Given the description of an element on the screen output the (x, y) to click on. 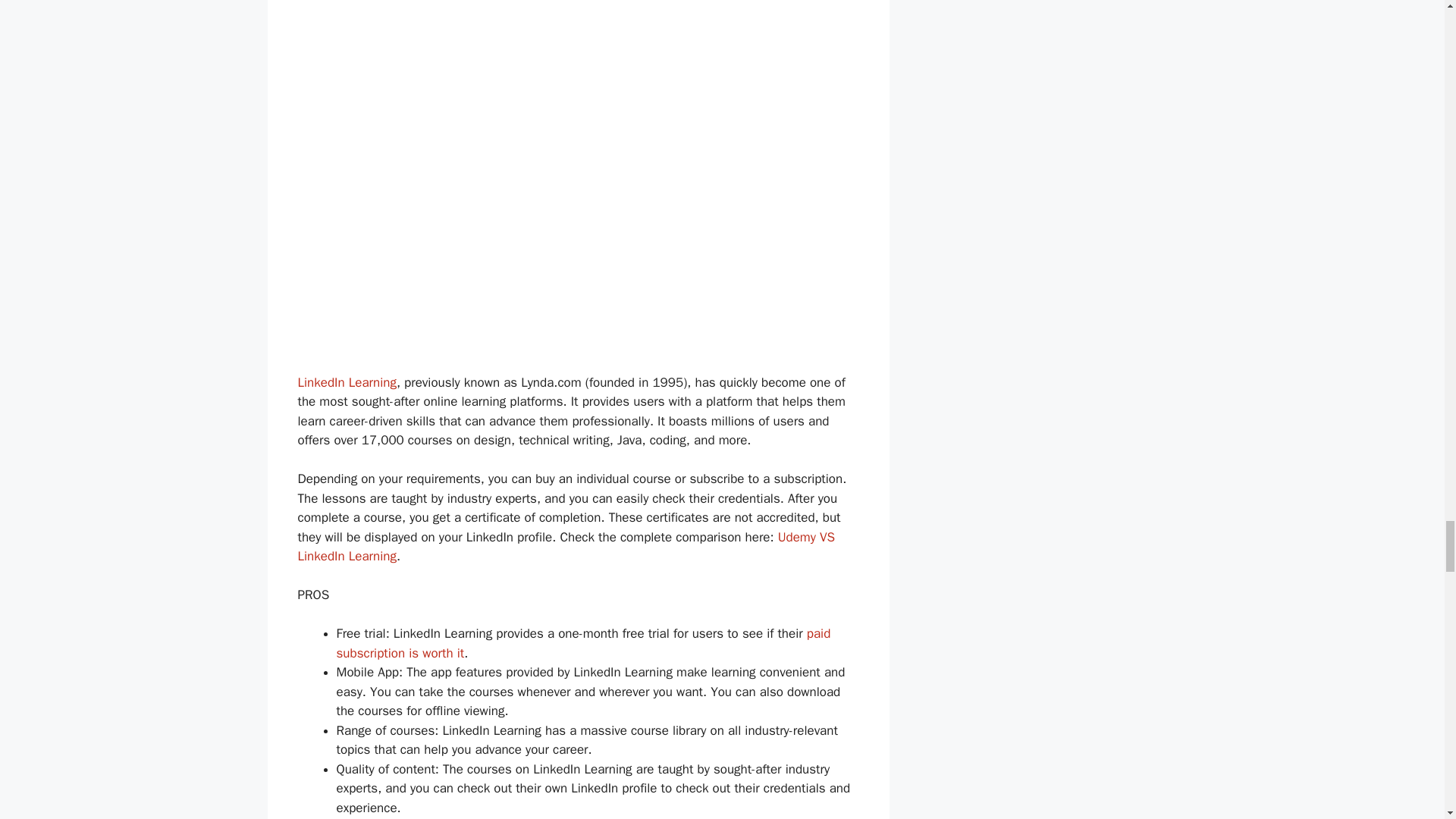
paid subscription is worth it (583, 642)
LinkedIn Learning (346, 382)
Udemy VS LinkedIn Learning (565, 547)
